Given the description of an element on the screen output the (x, y) to click on. 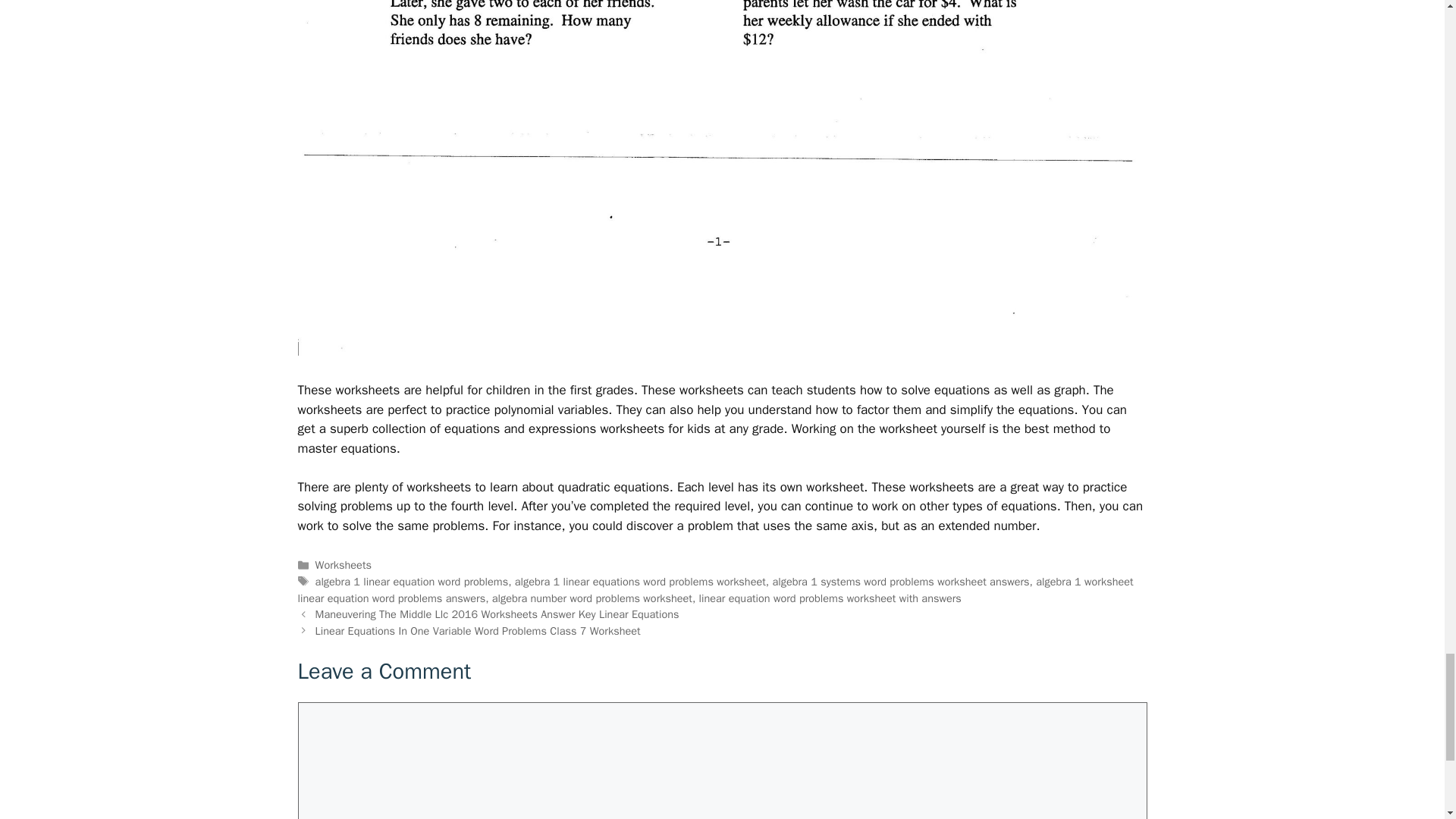
linear equation word problems worksheet with answers (829, 598)
algebra 1 linear equations word problems worksheet (640, 581)
algebra 1 linear equation word problems (411, 581)
algebra 1 worksheet linear equation word problems answers (714, 589)
algebra 1 systems word problems worksheet answers (900, 581)
algebra number word problems worksheet (592, 598)
Worksheets (343, 564)
